Given the description of an element on the screen output the (x, y) to click on. 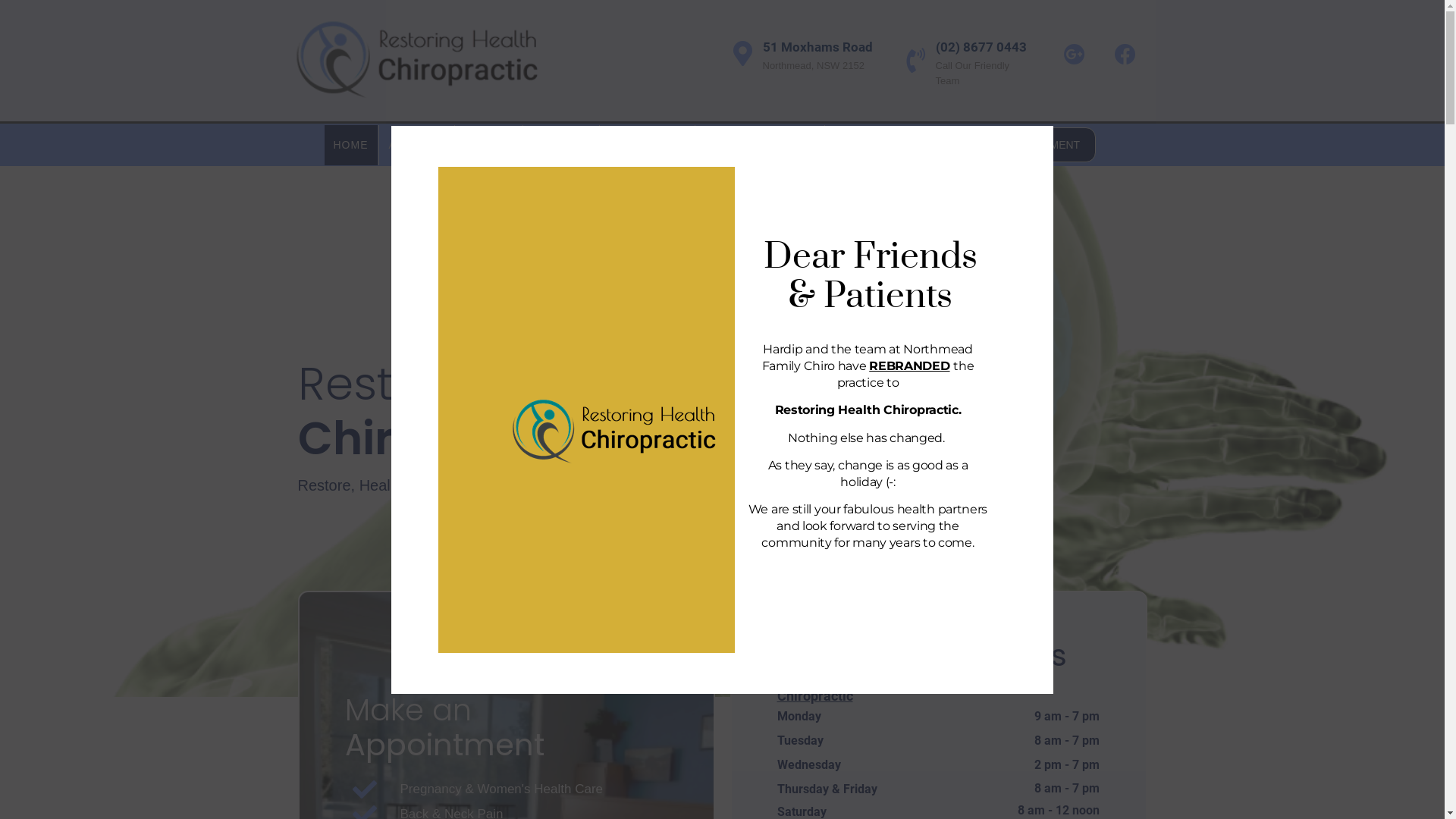
ABOUT Element type: text (415, 144)
CAREERS Element type: text (561, 144)
BOOK APPOINTMENT Element type: text (1015, 144)
51 Moxhams Road Element type: text (817, 46)
(02) 8677 0443 Element type: text (980, 46)
HOME Element type: text (350, 144)
PATIENT FORMS Element type: text (759, 144)
CONTACT Element type: text (862, 144)
SERVICES Element type: text (646, 144)
TEAM Element type: text (488, 144)
